Given the description of an element on the screen output the (x, y) to click on. 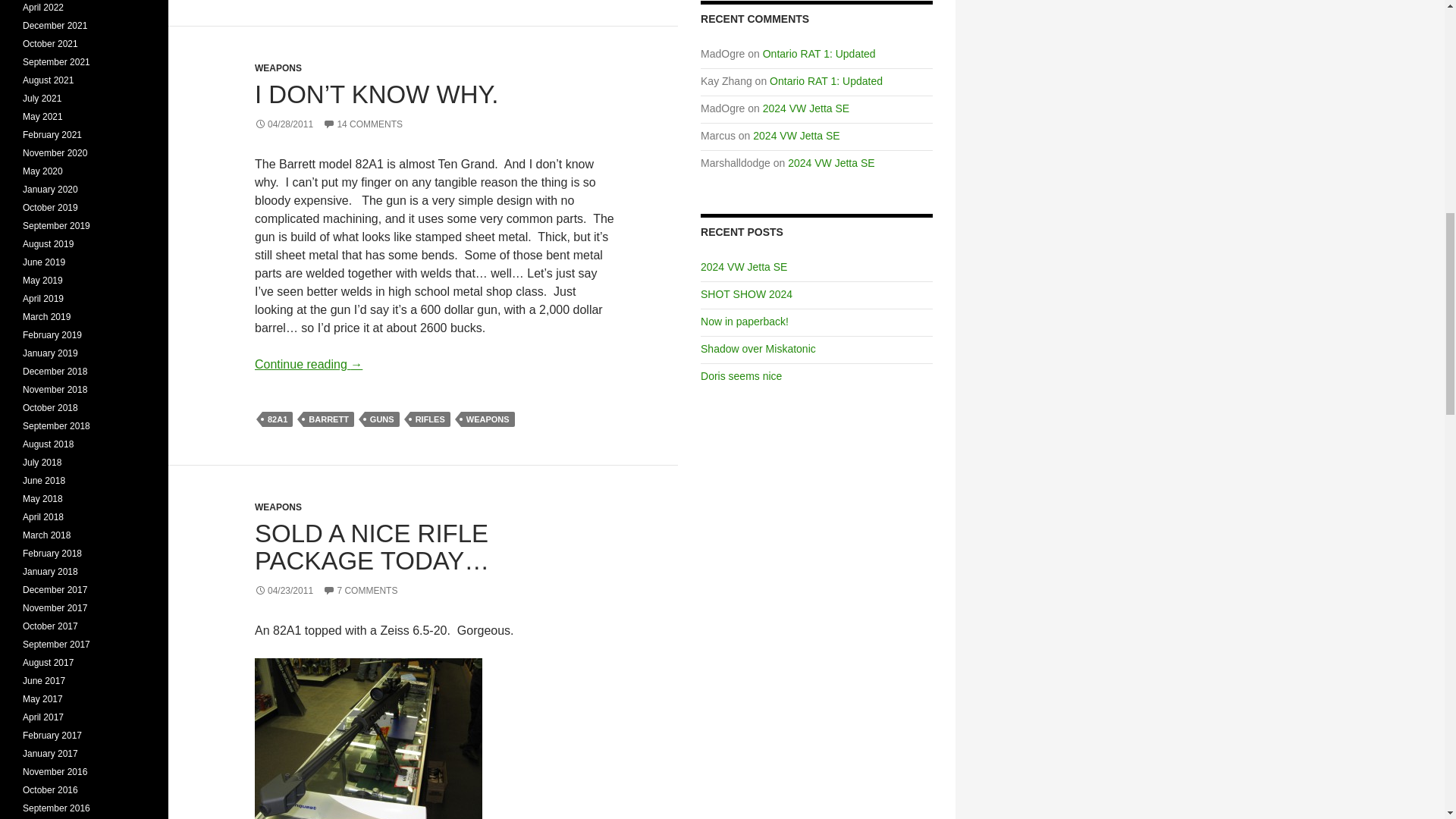
RIFLES (429, 418)
82A1 (277, 418)
14 COMMENTS (363, 123)
WEAPONS (277, 68)
WEAPONS (277, 507)
7 COMMENTS (360, 590)
GUNS (381, 418)
BARRETT (327, 418)
WEAPONS (488, 418)
